Given the description of an element on the screen output the (x, y) to click on. 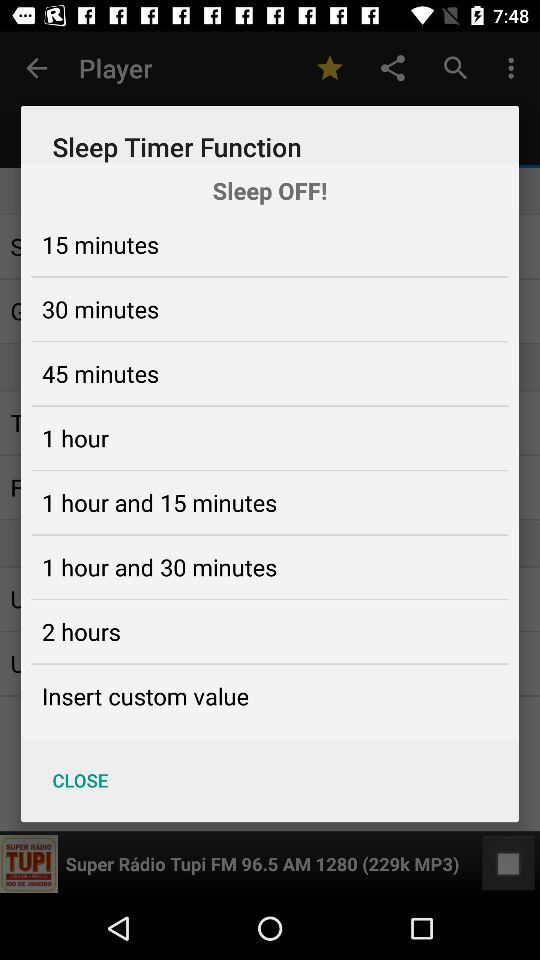
launch item below 1 hour and item (81, 631)
